Given the description of an element on the screen output the (x, y) to click on. 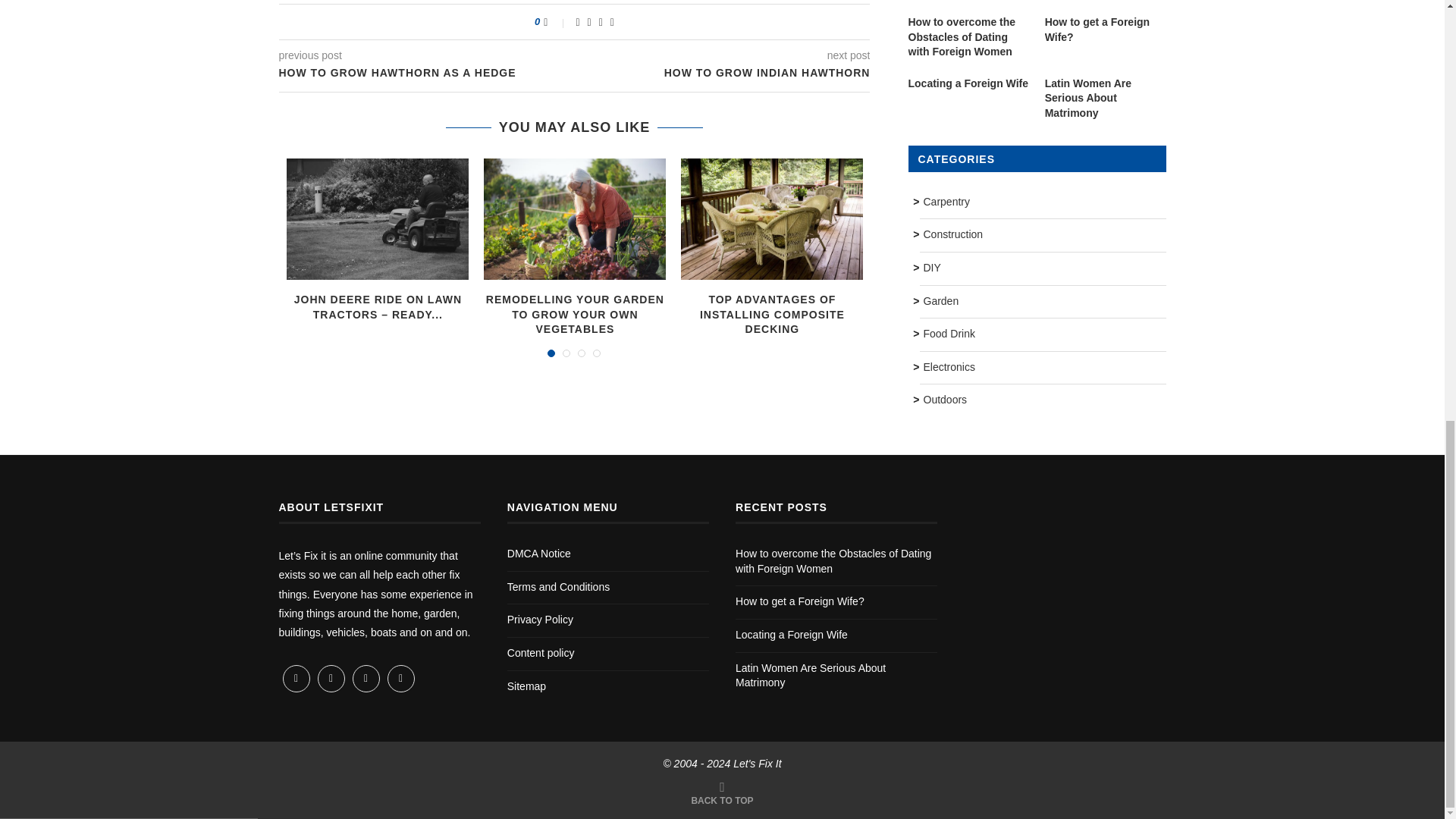
Top Advantages of Installing Composite Decking (772, 219)
Like (555, 21)
Remodelling Your Garden To Grow Your Own Vegetables (574, 219)
